Given the description of an element on the screen output the (x, y) to click on. 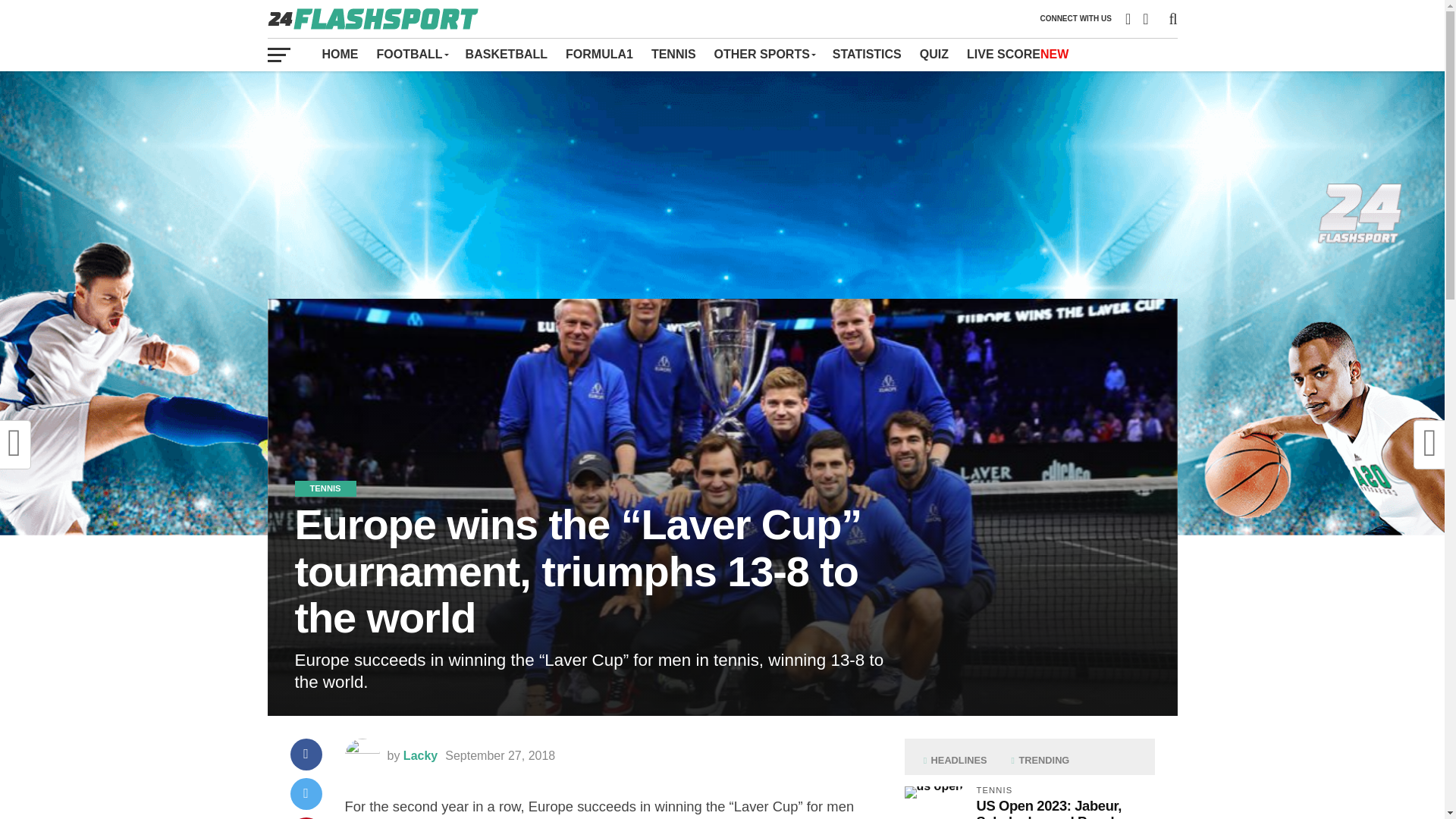
Posts by Lacky (420, 755)
